Given the description of an element on the screen output the (x, y) to click on. 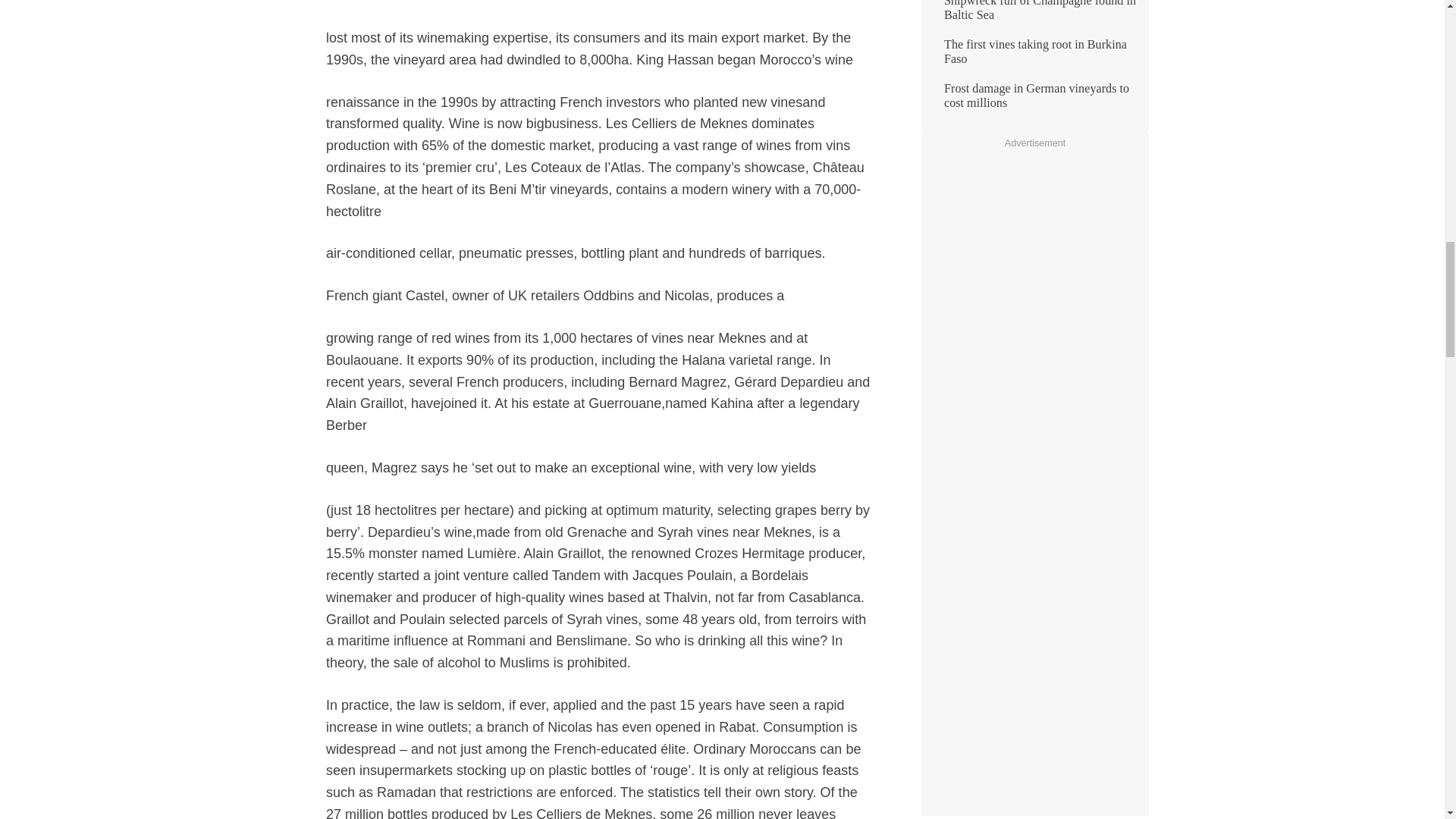
Frost damage in German vineyards to cost millions (1035, 101)
The first vines taking root in Burkina Faso (1035, 57)
Shipwreck full of Champagne found in Baltic Sea (1035, 17)
